Given the description of an element on the screen output the (x, y) to click on. 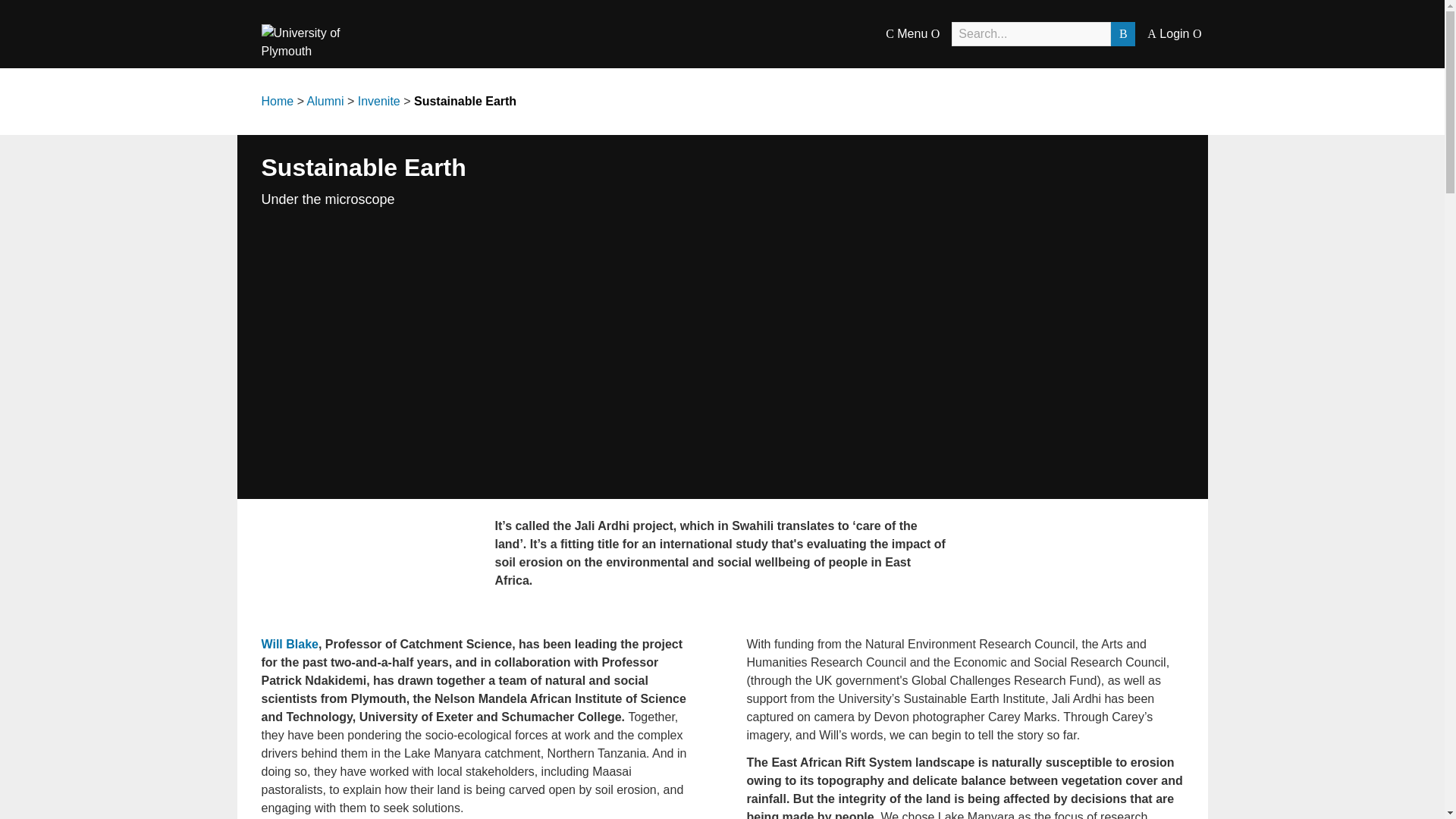
C Menu O (911, 33)
A Login O (1174, 33)
B (1122, 33)
